Given the description of an element on the screen output the (x, y) to click on. 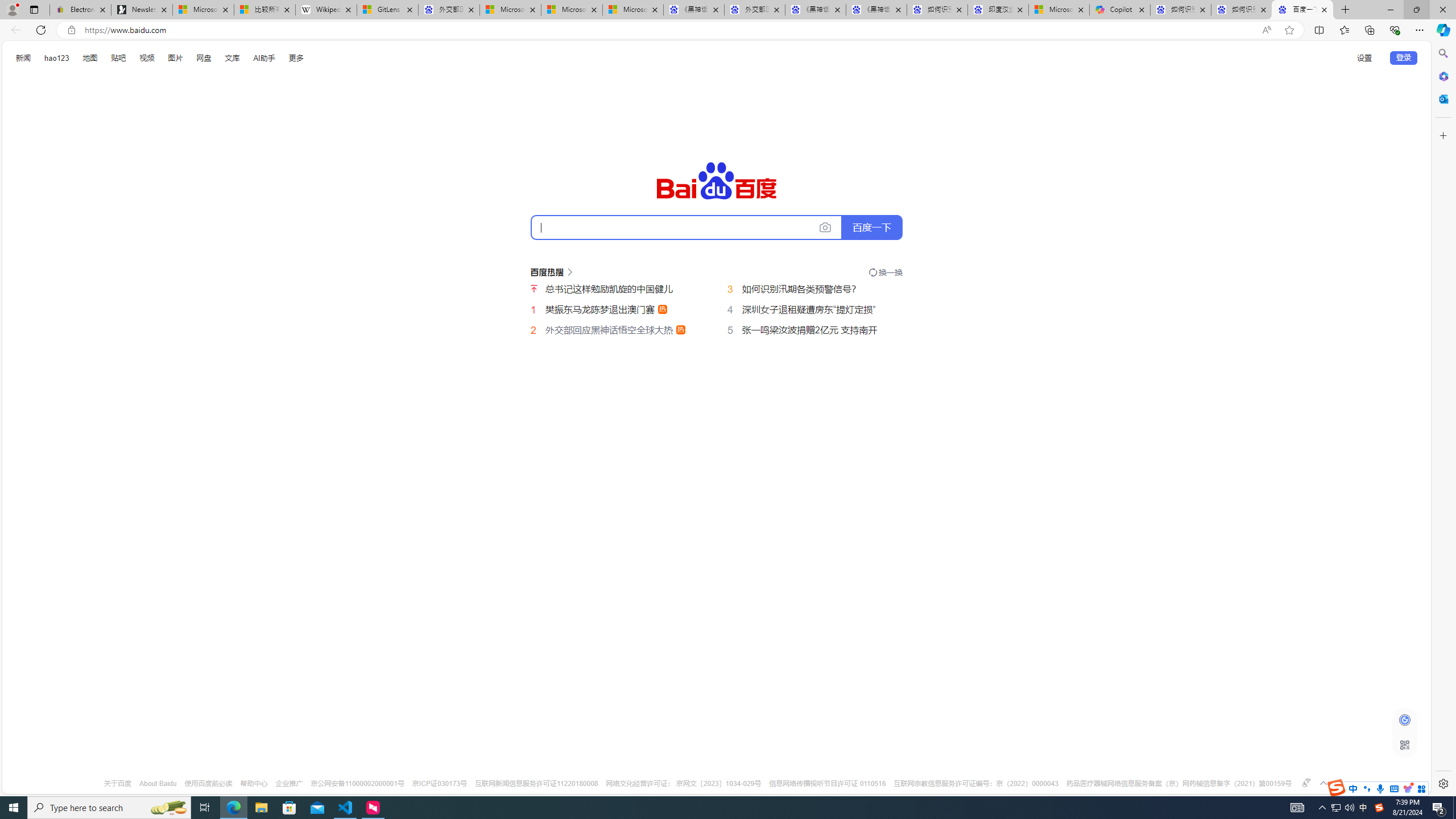
About Baidu (157, 783)
